Given the description of an element on the screen output the (x, y) to click on. 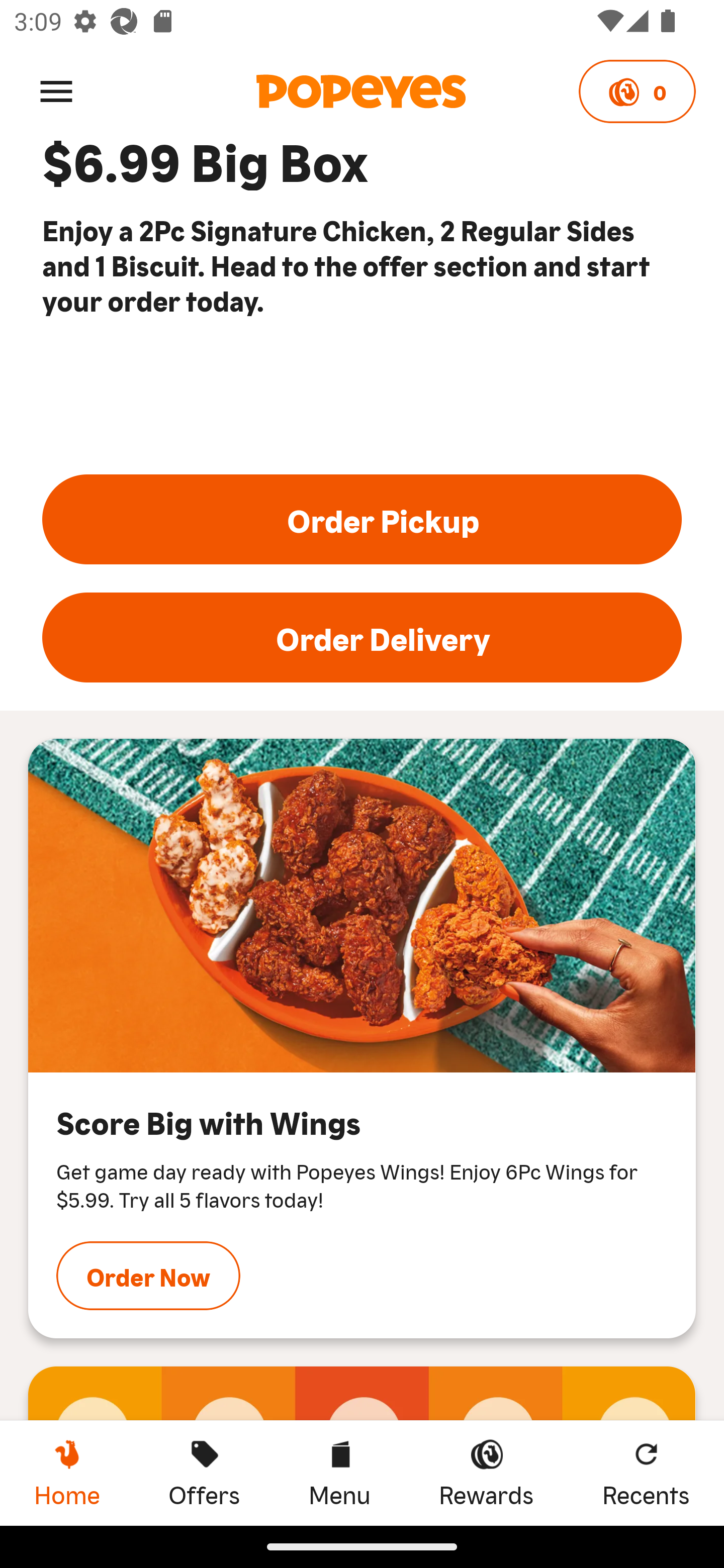
Menu  (56, 90)
0 Points 0 (636, 91)
Order Pickup (361, 519)
Order Delivery (361, 637)
Score Big with Wings (361, 905)
Order Now (148, 1275)
Home, current page Home Home, current page (66, 1472)
Offers Offers Offers (203, 1472)
Menu Menu Menu (339, 1472)
Rewards Rewards Rewards (486, 1472)
Recents Recents Recents (646, 1472)
